Given the description of an element on the screen output the (x, y) to click on. 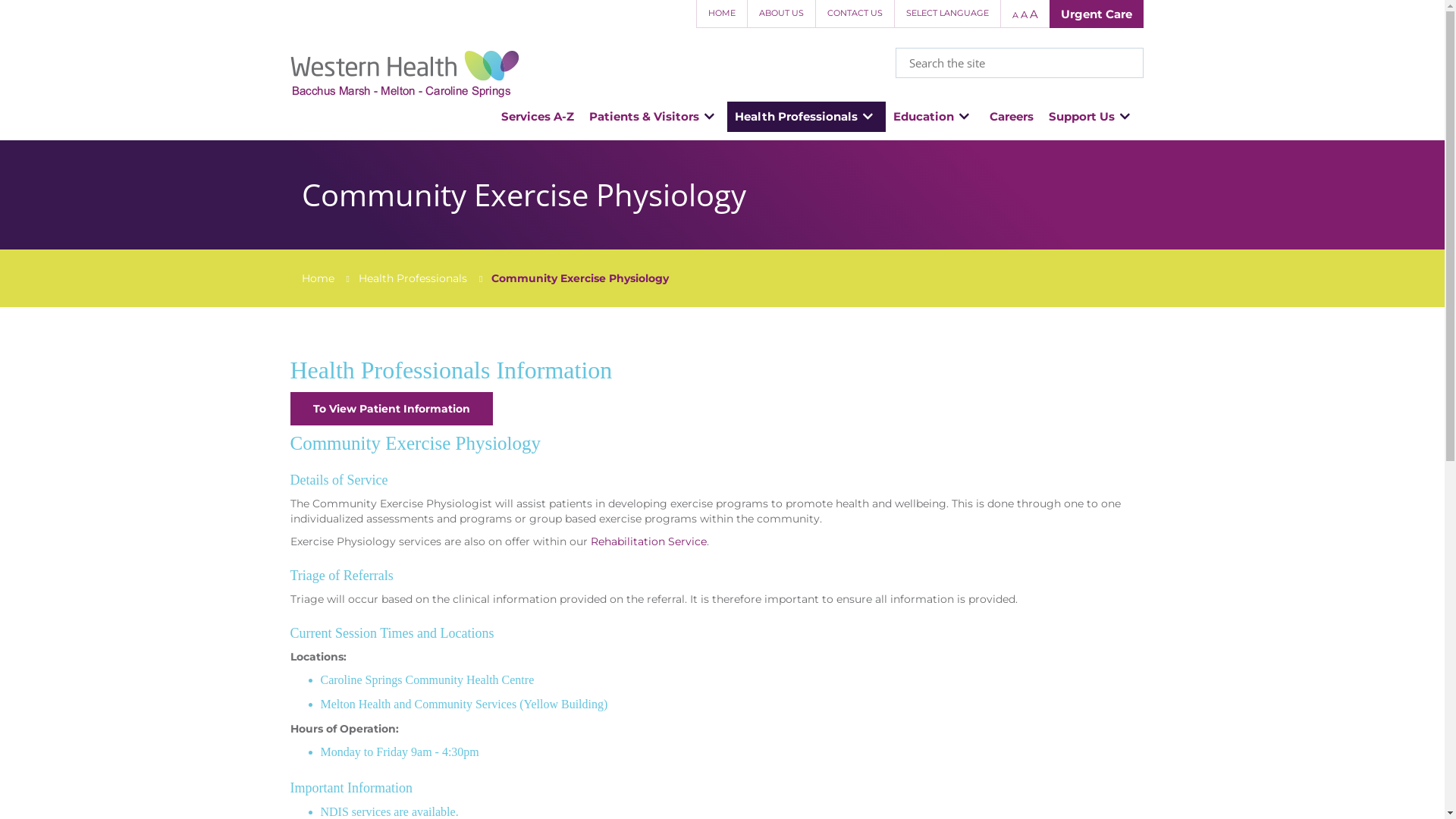
ABOUT US Element type: text (780, 14)
CONTACT US Element type: text (853, 14)
Careers Element type: text (1011, 116)
Education Element type: text (933, 116)
Patients & Visitors Element type: text (653, 116)
To View Patient Information Element type: text (390, 408)
HOME Element type: text (721, 14)
SELECT LANGUAGE Element type: text (946, 14)
Health Professionals Element type: text (806, 116)
Support Us Element type: text (1091, 116)
Health Professionals Element type: text (412, 278)
Rehabilitation Service Element type: text (647, 541)
Urgent Care Element type: text (1096, 14)
Services A-Z Element type: text (536, 116)
search Element type: text (1126, 63)
Home Element type: text (317, 278)
A A A Element type: text (1023, 14)
